Given the description of an element on the screen output the (x, y) to click on. 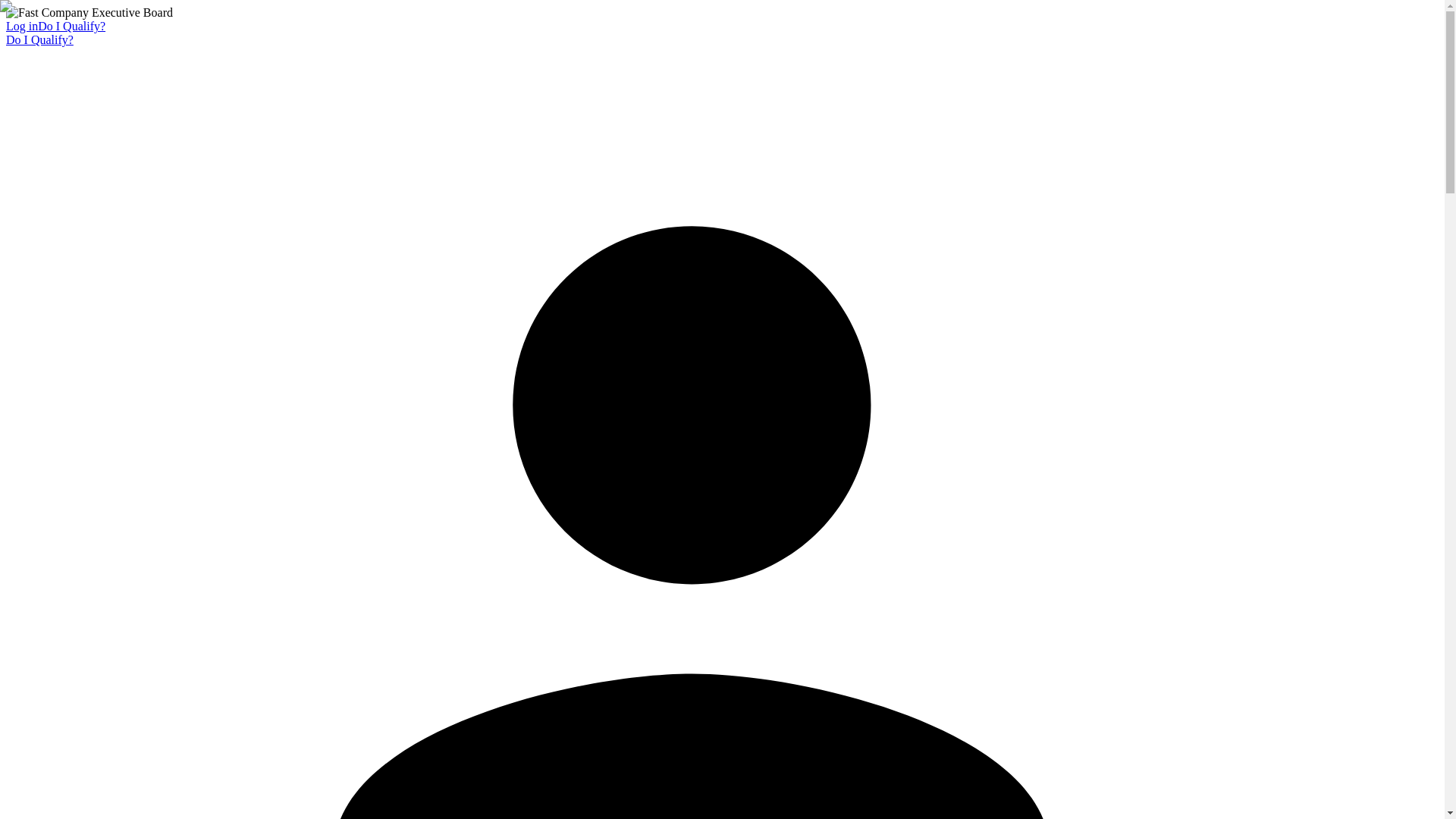
Do I Qualify? (70, 25)
Do I Qualify? (39, 39)
Log in (21, 25)
